Given the description of an element on the screen output the (x, y) to click on. 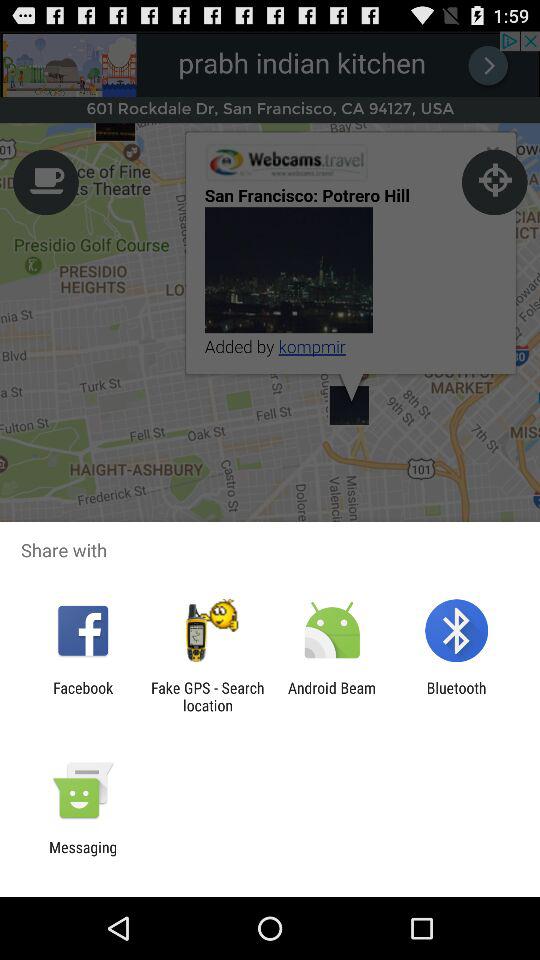
choose app to the left of the bluetooth icon (332, 696)
